Given the description of an element on the screen output the (x, y) to click on. 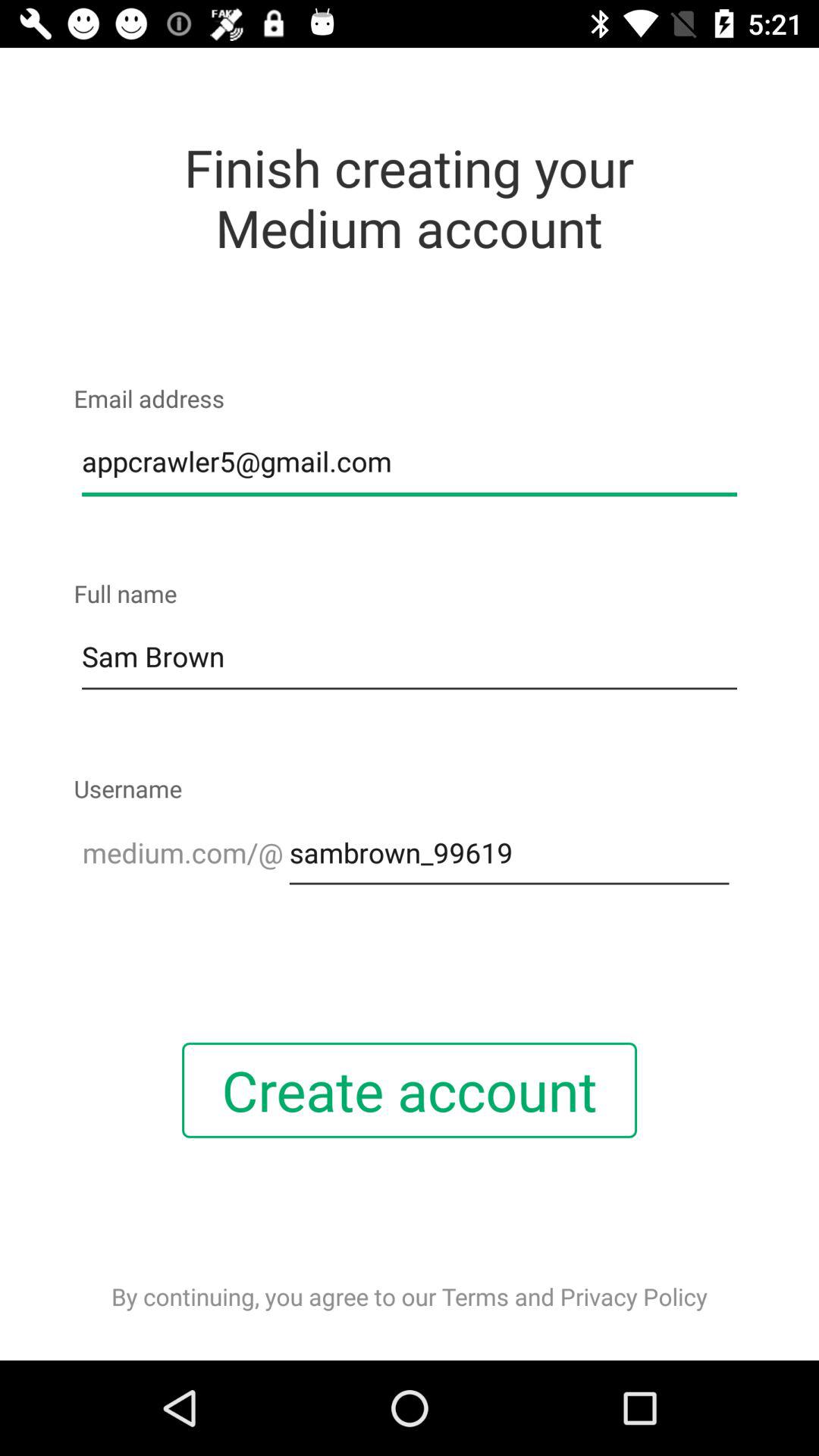
turn on icon below the email address item (409, 462)
